Given the description of an element on the screen output the (x, y) to click on. 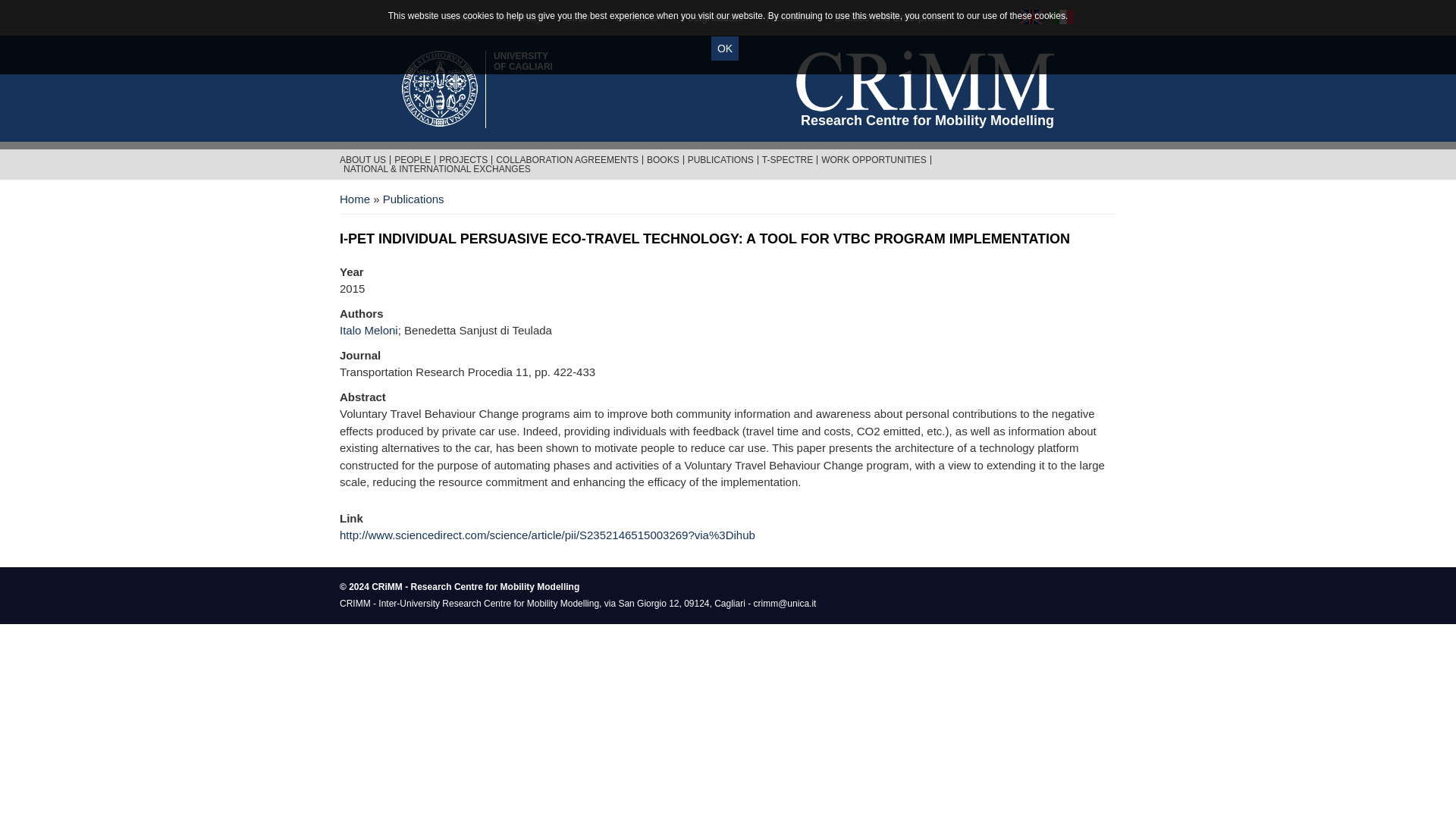
Research Centre for Mobility Modelling (925, 80)
Italiano (1063, 16)
Home (354, 198)
Students (636, 17)
OK (724, 48)
Cirem (578, 17)
Home (457, 17)
Cagliary University (523, 61)
Research (789, 17)
Home (457, 17)
PROJECTS (463, 159)
Postgraduate (711, 17)
Students (636, 17)
COLLABORATION AGREEMENTS (523, 61)
